Given the description of an element on the screen output the (x, y) to click on. 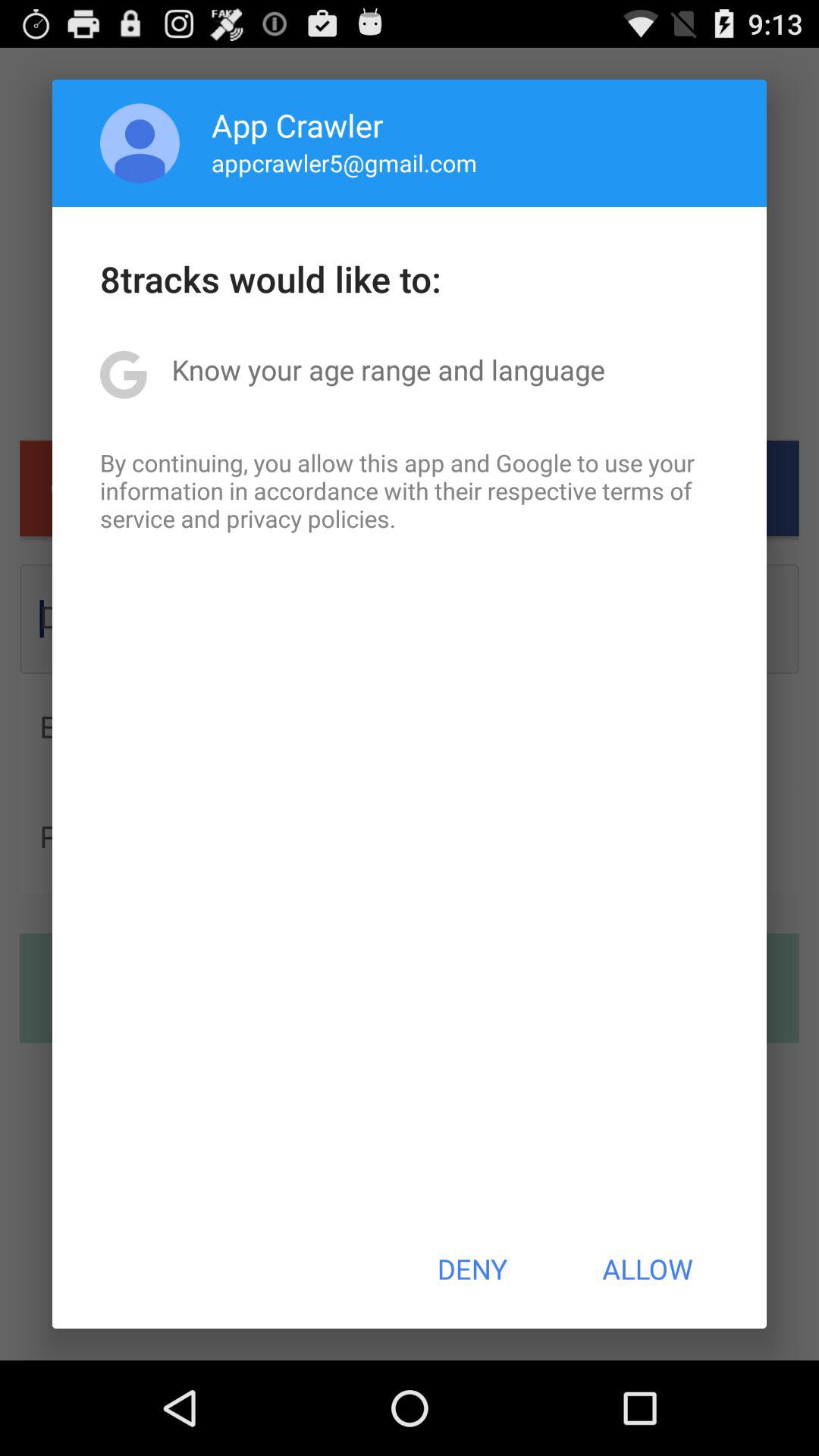
turn off the icon below the app crawler app (344, 162)
